Given the description of an element on the screen output the (x, y) to click on. 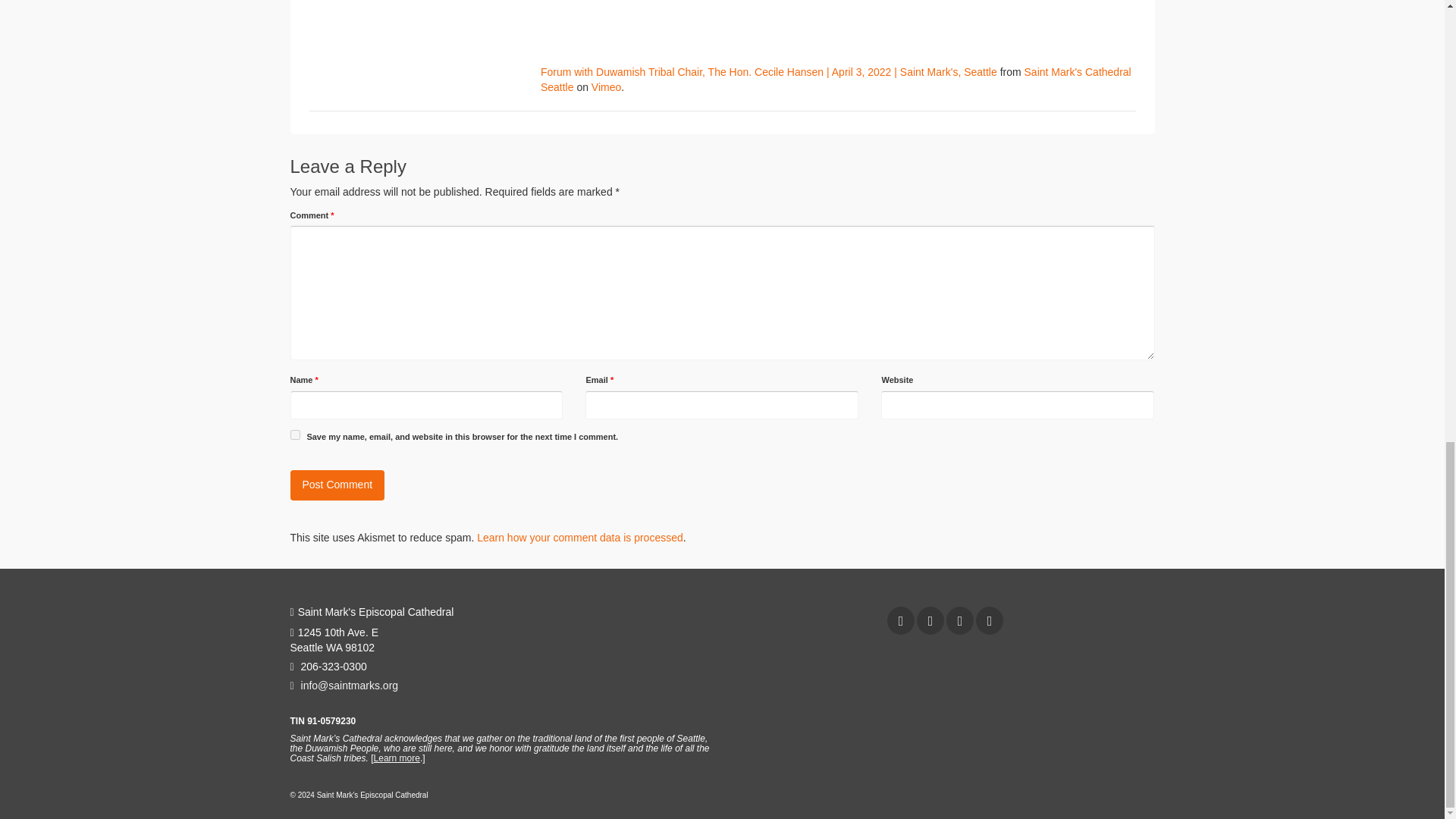
yes (294, 434)
Post Comment (336, 485)
